Given the description of an element on the screen output the (x, y) to click on. 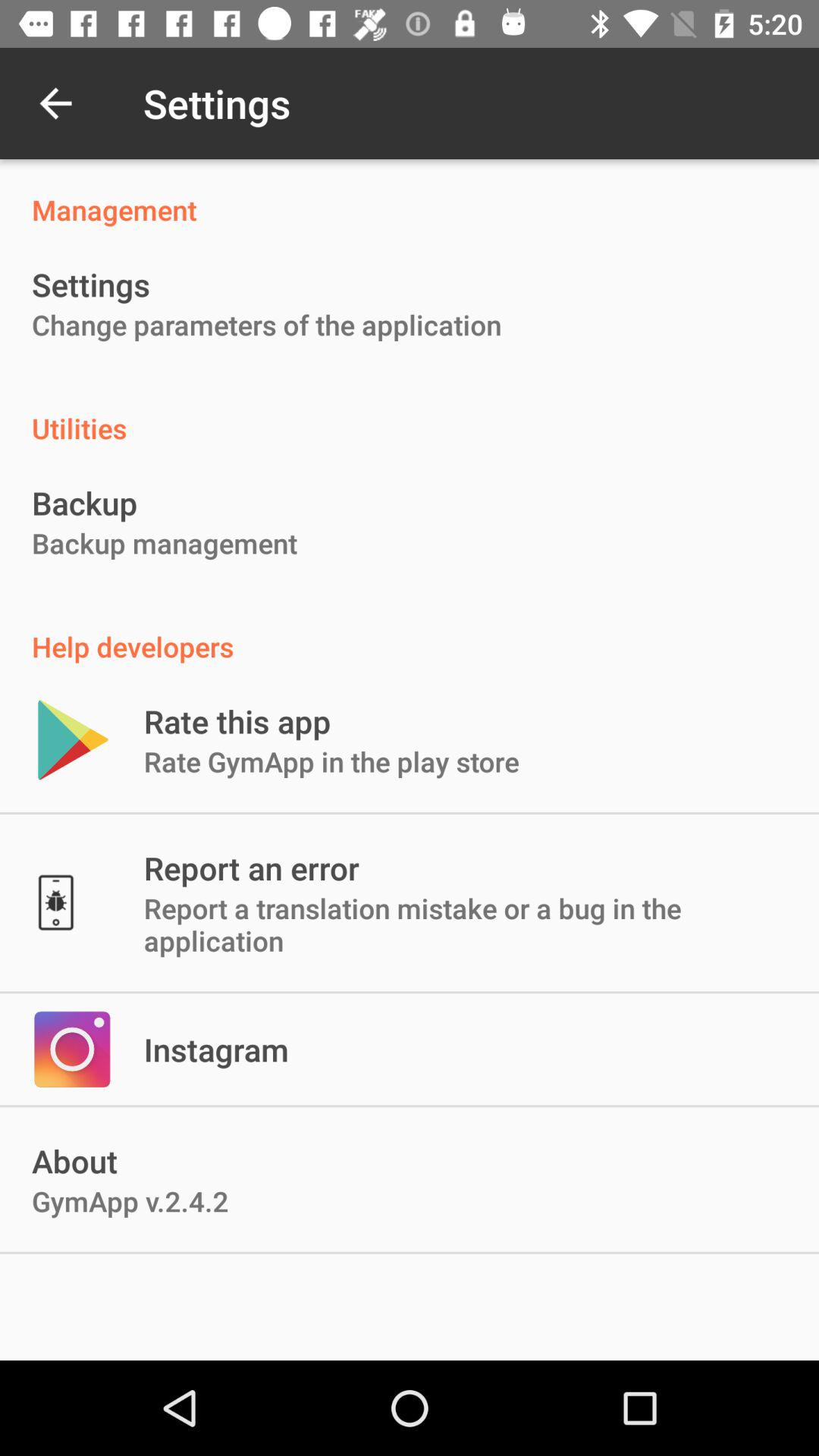
click the instagram icon (215, 1048)
